Given the description of an element on the screen output the (x, y) to click on. 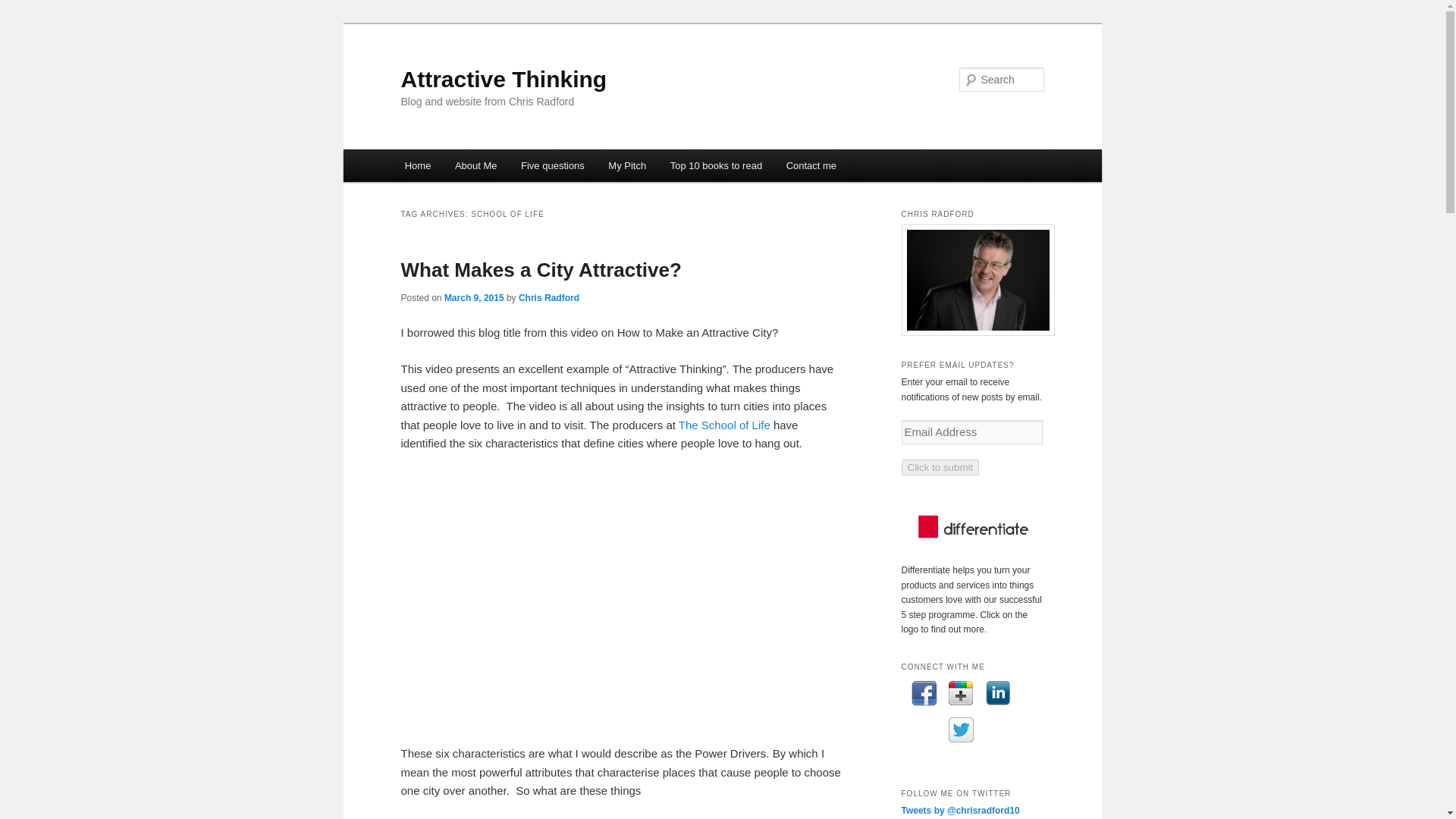
Five questions (551, 165)
Recommend this page! (959, 692)
Attractive Thinking (503, 78)
The School of Life (724, 424)
March 9, 2015 (473, 297)
About Me (475, 165)
Top 10 books to read (716, 165)
Search (24, 8)
Click to submit (939, 467)
My Pitch (627, 165)
